Given the description of an element on the screen output the (x, y) to click on. 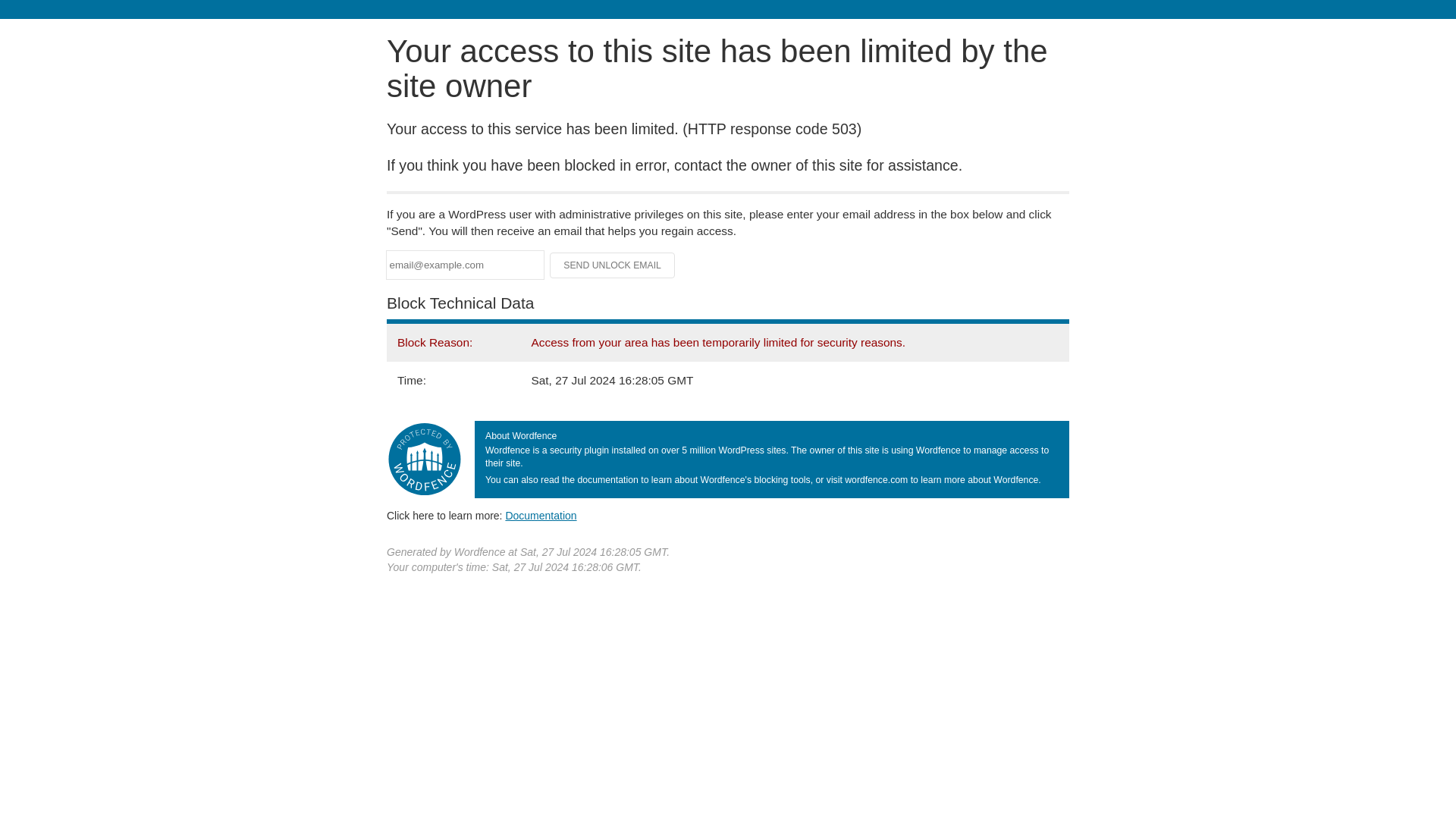
Send Unlock Email (612, 265)
Documentation (540, 515)
Send Unlock Email (612, 265)
